Given the description of an element on the screen output the (x, y) to click on. 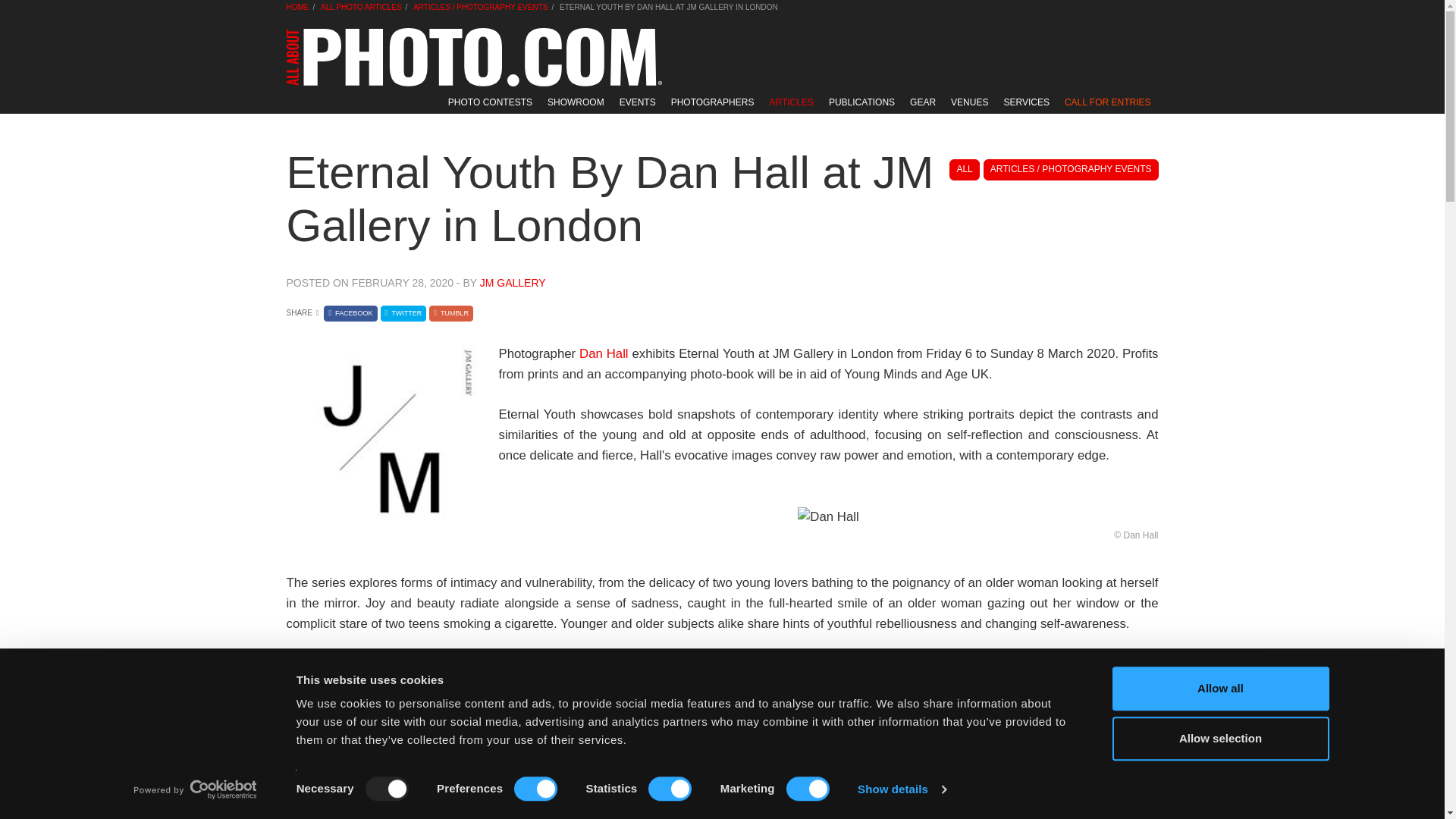
All Photography Contests (490, 101)
Allow selection (1219, 738)
Allow all (1219, 688)
Show details (900, 789)
All About Photo Showroom (575, 101)
PHOTO CONTESTS (490, 101)
